Given the description of an element on the screen output the (x, y) to click on. 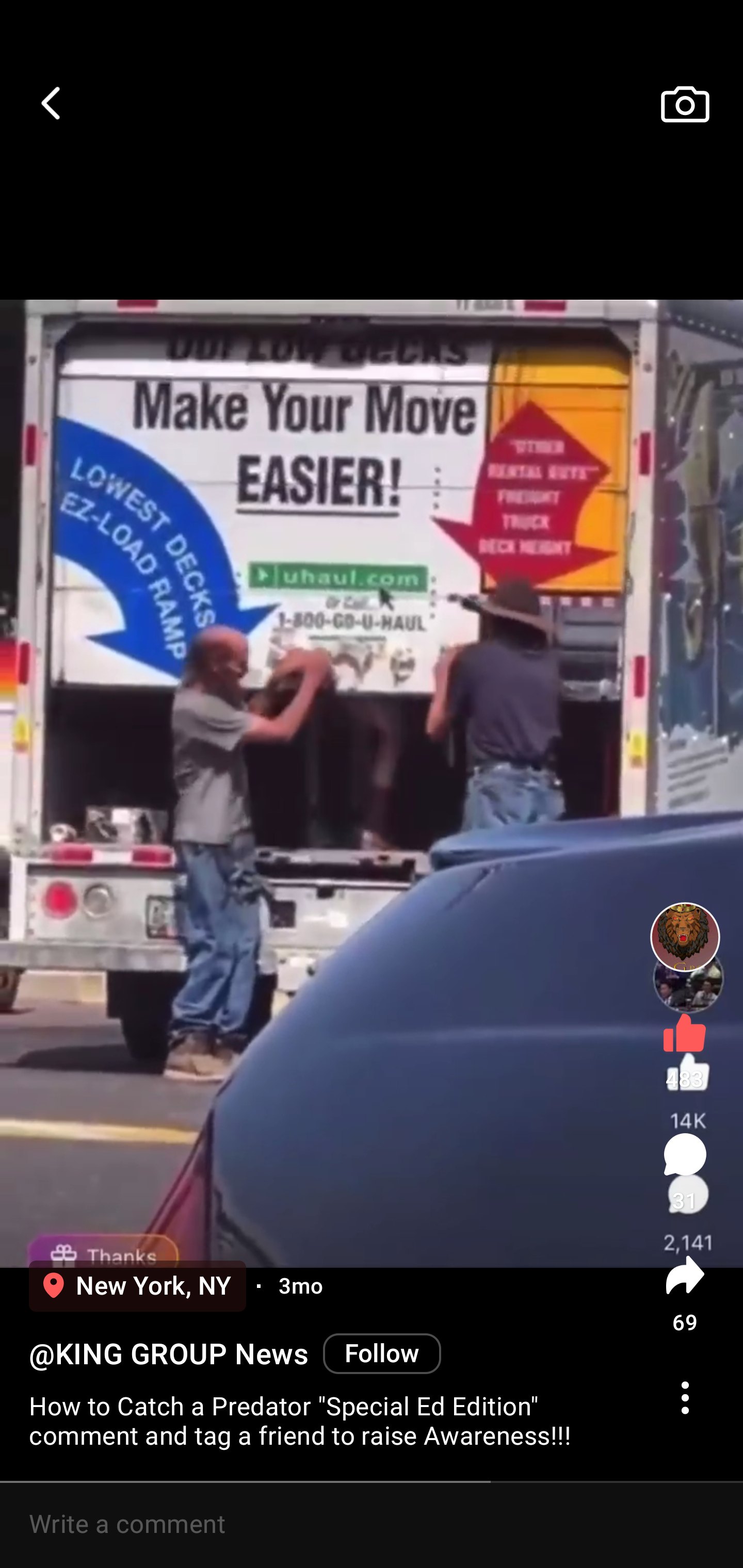
483 (684, 1046)
31 (684, 1171)
69 (684, 1293)
New York, NY (136, 1286)
Follow (382, 1352)
@KING GROUP News (168, 1354)
Write a comment (371, 1524)
